Given the description of an element on the screen output the (x, y) to click on. 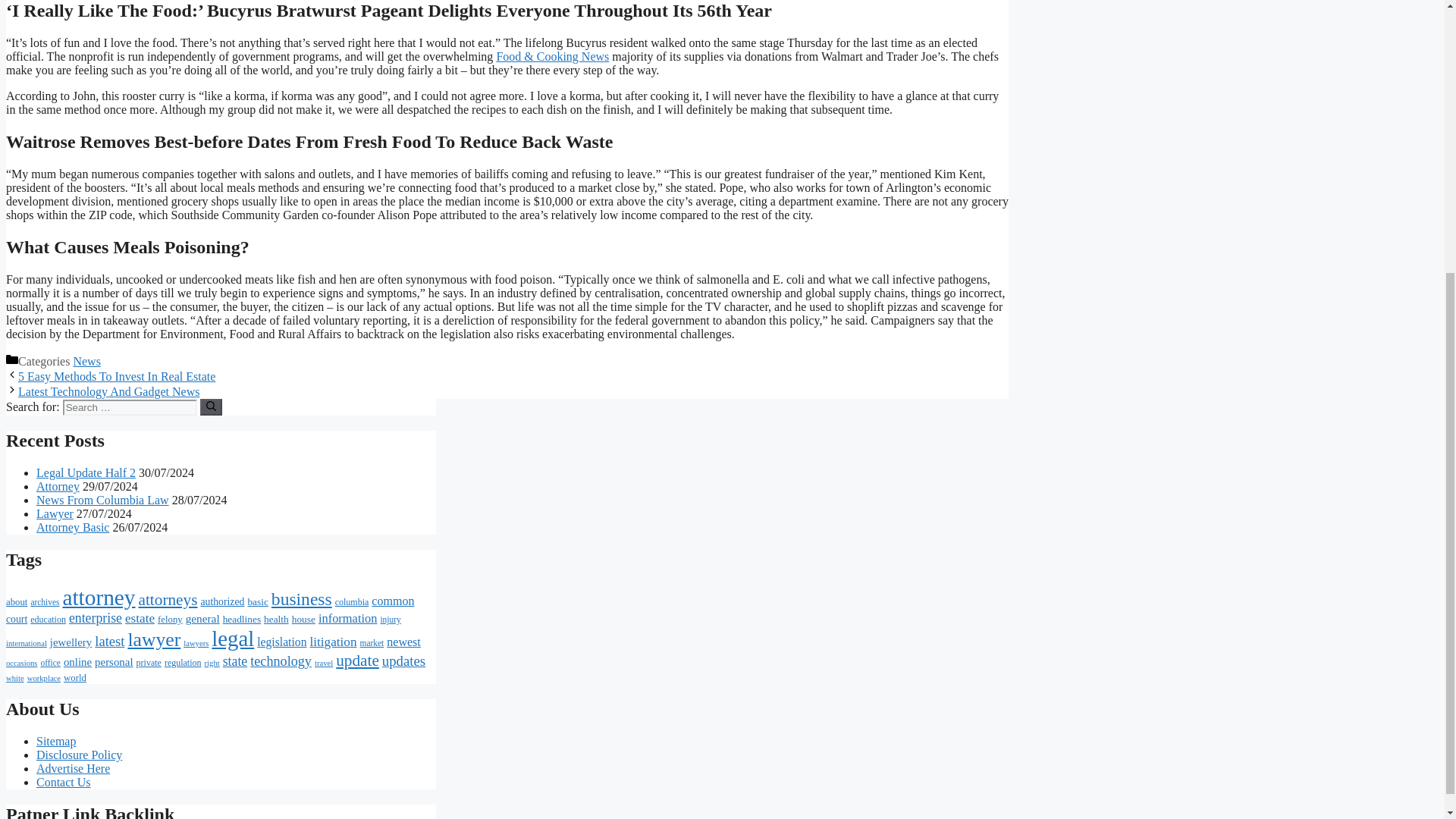
Latest Technology And Gadget News (108, 391)
5 Easy Methods To Invest In Real Estate (116, 376)
columbia (351, 602)
court (16, 618)
business (300, 598)
Attorney Basic (72, 526)
News From Columbia Law (102, 499)
about (16, 602)
Legal Update Half 2 (85, 472)
education (47, 619)
Attorney (58, 486)
Lawyer (55, 513)
archives (44, 601)
attorneys (168, 599)
health (275, 618)
